Given the description of an element on the screen output the (x, y) to click on. 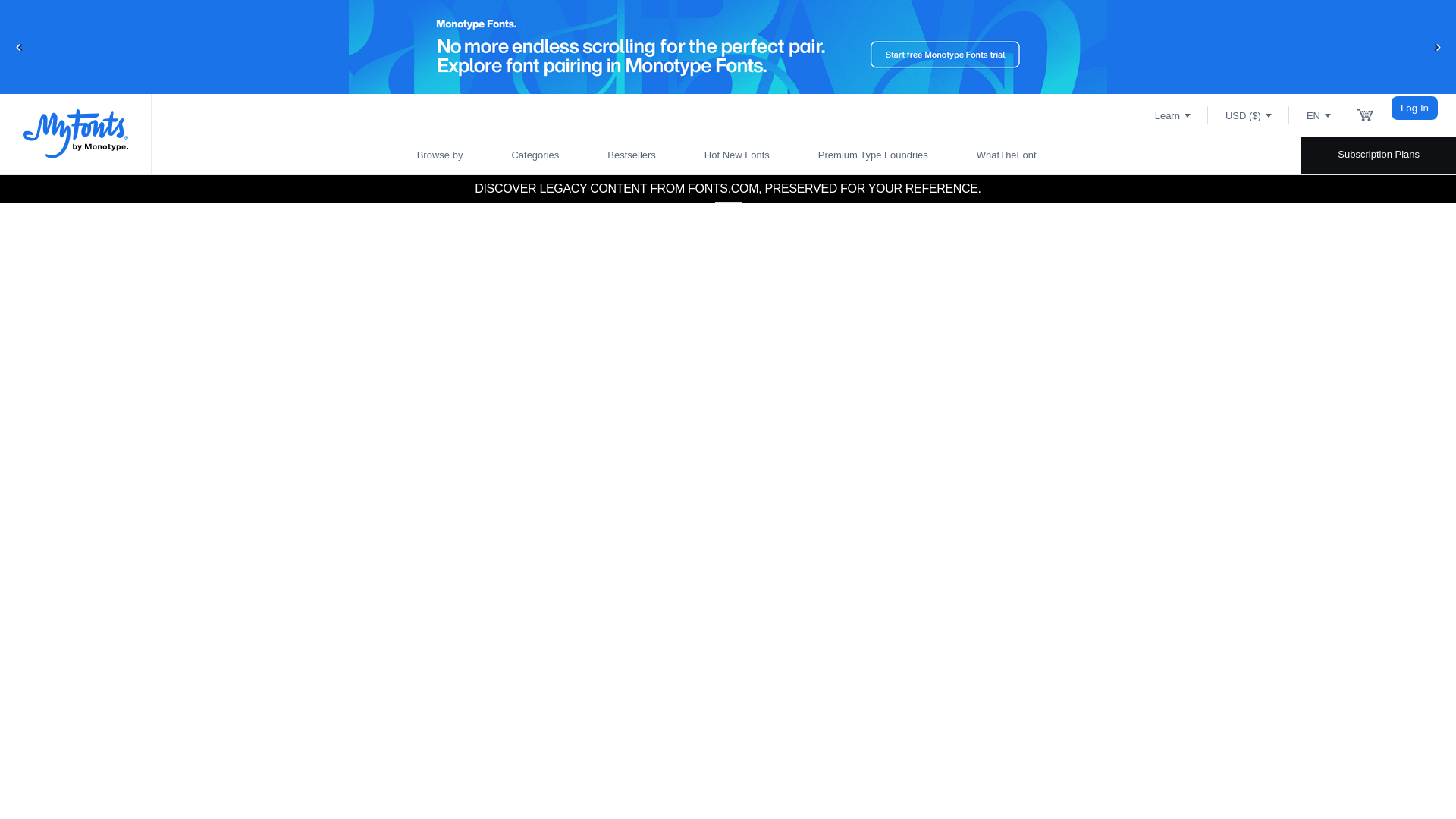
MyFonts (75, 133)
Log In (1414, 106)
Skip to content (72, 27)
